Given the description of an element on the screen output the (x, y) to click on. 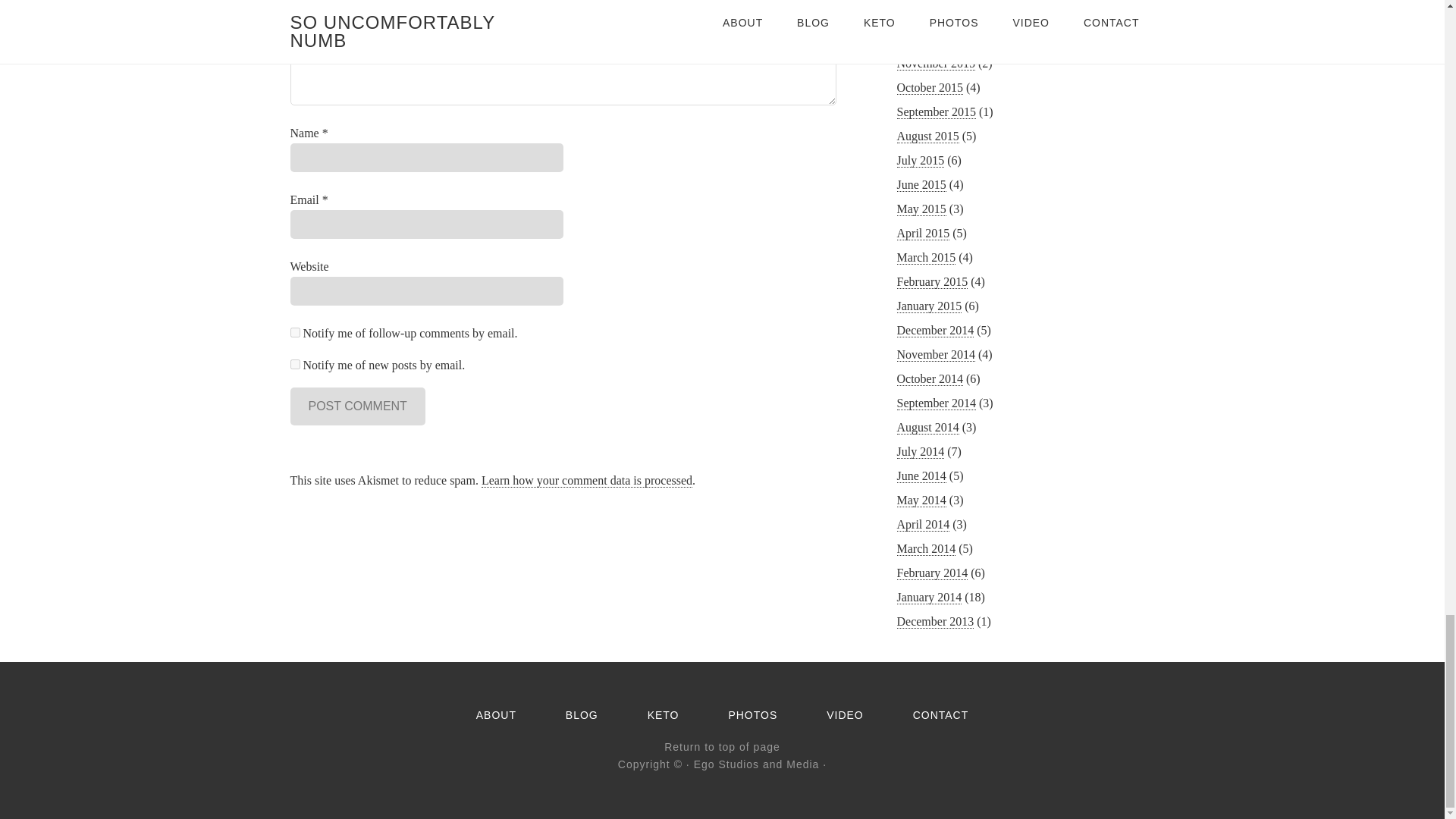
Learn how your comment data is processed (587, 480)
subscribe (294, 364)
Ego Studios and Media (756, 764)
Post Comment (357, 406)
subscribe (294, 332)
Post Comment (357, 406)
